Given the description of an element on the screen output the (x, y) to click on. 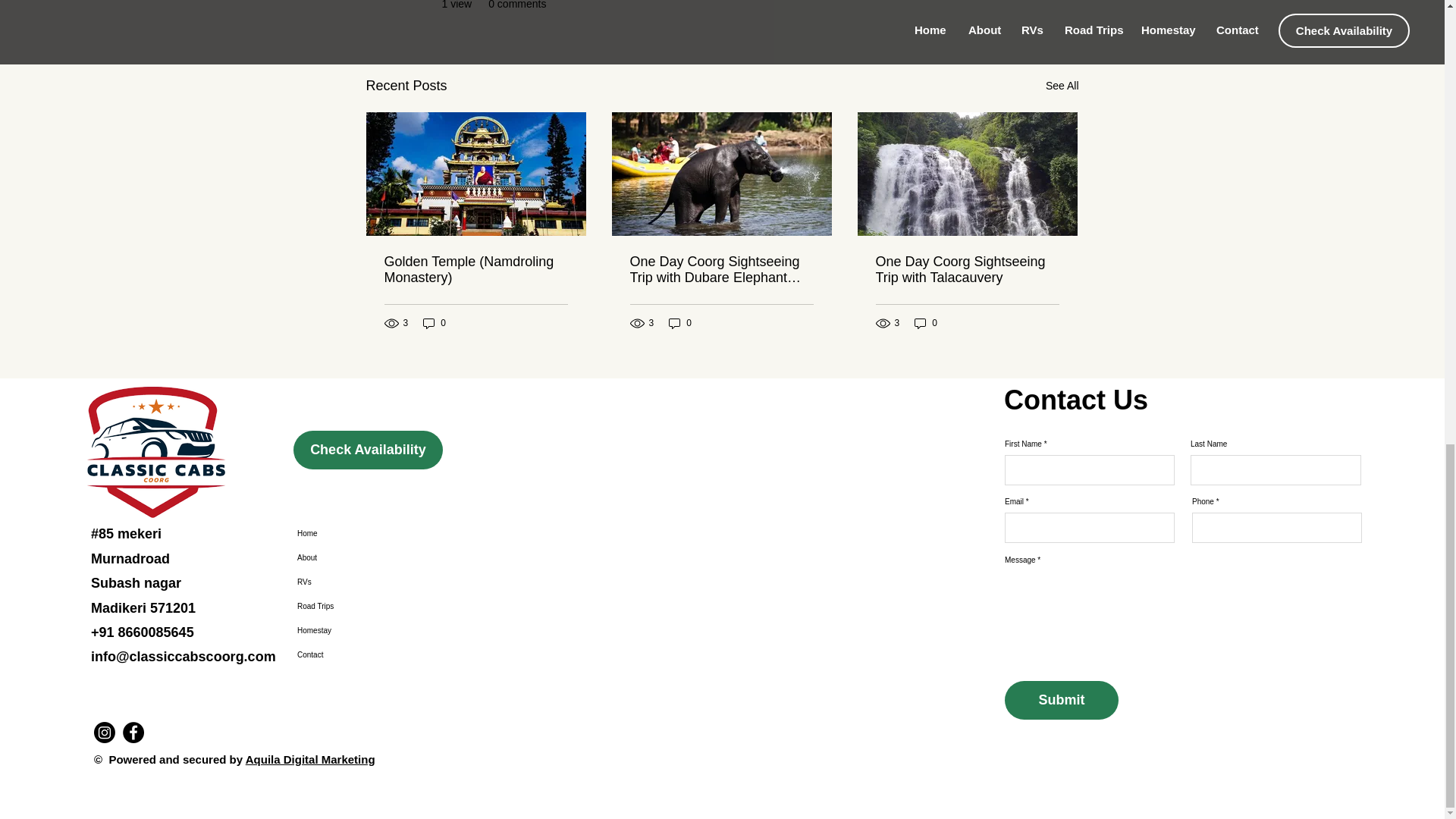
Submit (1061, 699)
Contact (366, 654)
One Day Coorg Sightseeing Trip with Talacauvery (966, 269)
Home (366, 533)
Homestay (366, 630)
0 (925, 323)
About (366, 558)
See All (1061, 86)
0 (434, 323)
0 (679, 323)
Aquila Digital Marketing (310, 758)
One Day Coorg Sightseeing Trip with Dubare Elephant Camp (720, 269)
Road Trips (366, 606)
Check Availability (368, 449)
RVs (366, 582)
